Given the description of an element on the screen output the (x, y) to click on. 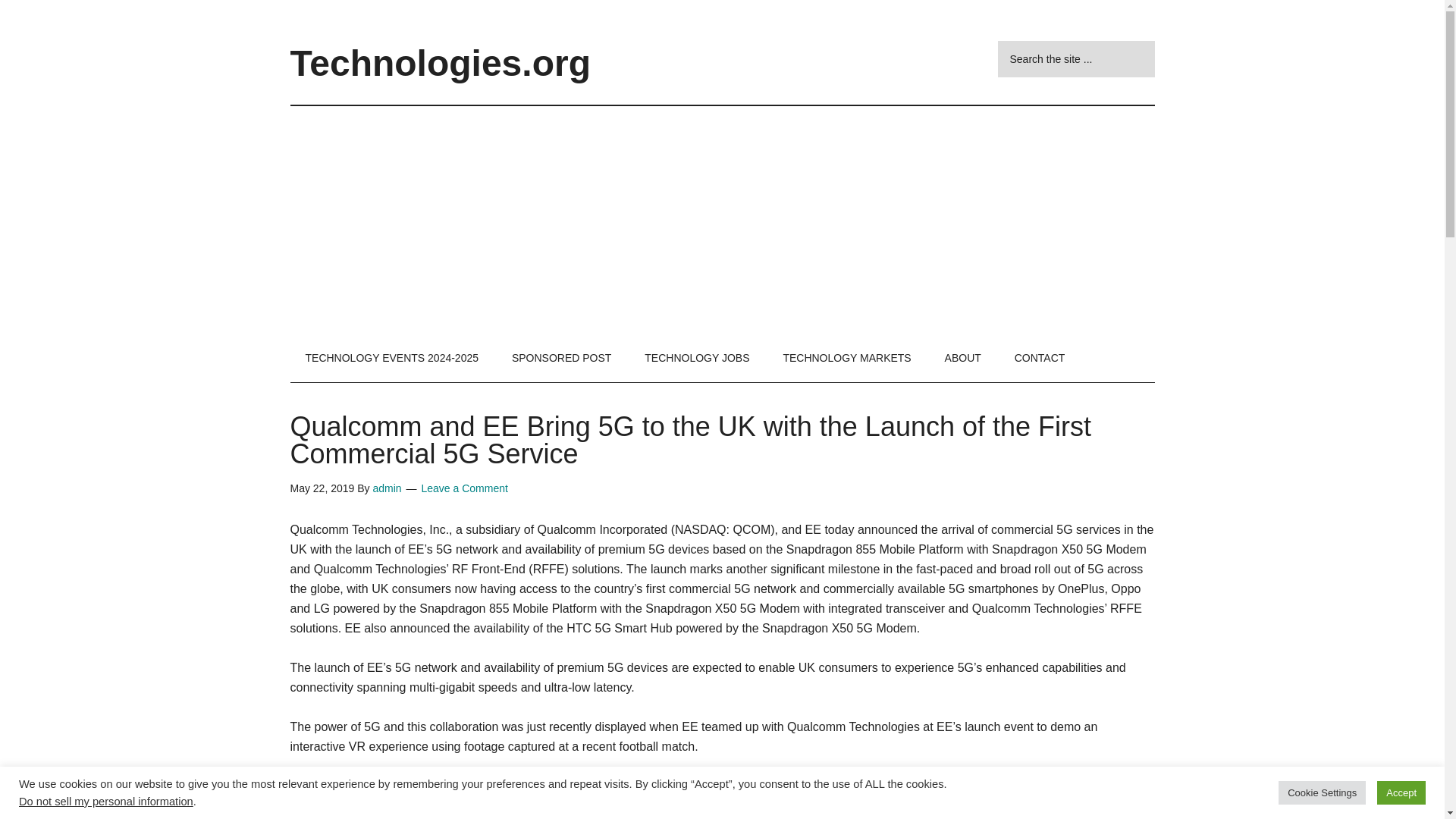
CONTACT (1039, 357)
SPONSORED POST (561, 357)
admin (386, 488)
TECHNOLOGY MARKETS (846, 357)
TECHNOLOGY JOBS (696, 357)
TECHNOLOGY EVENTS 2024-2025 (391, 357)
